Given the description of an element on the screen output the (x, y) to click on. 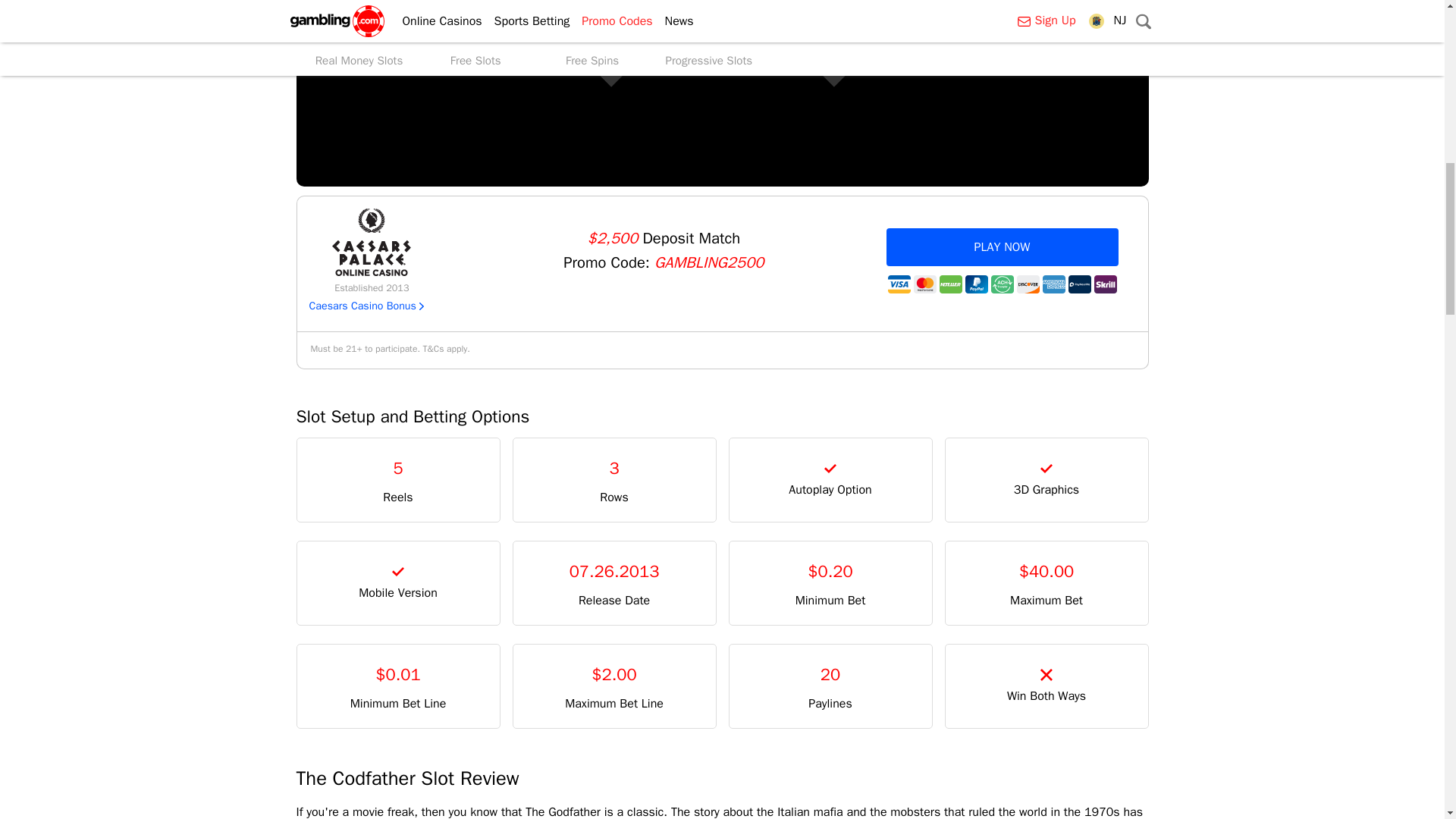
PayNearMe (1078, 284)
ACH Transfer (1001, 284)
Caesars Casino (371, 241)
American Express (1053, 284)
PayPal (975, 284)
MasterCard (924, 284)
NETELLER (949, 284)
Discover (1027, 284)
Skrill (1104, 284)
VISA (898, 284)
